Given the description of an element on the screen output the (x, y) to click on. 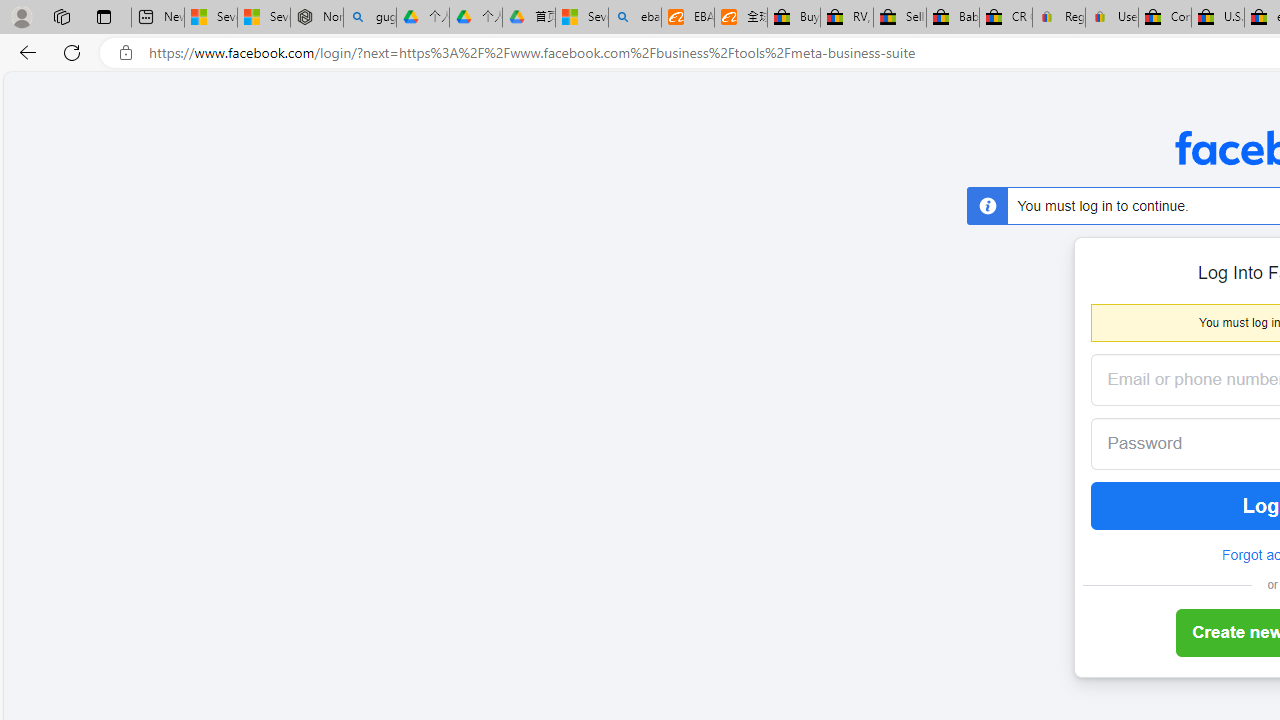
Consumer Health Data Privacy Policy - eBay Inc. (1165, 17)
User Privacy Notice | eBay (1111, 17)
ebay - Search (634, 17)
Baby Keepsakes & Announcements for sale | eBay (952, 17)
Register: Create a personal eBay account (1059, 17)
guge yunpan - Search (369, 17)
RV, Trailer & Camper Steps & Ladders for sale | eBay (846, 17)
